Given the description of an element on the screen output the (x, y) to click on. 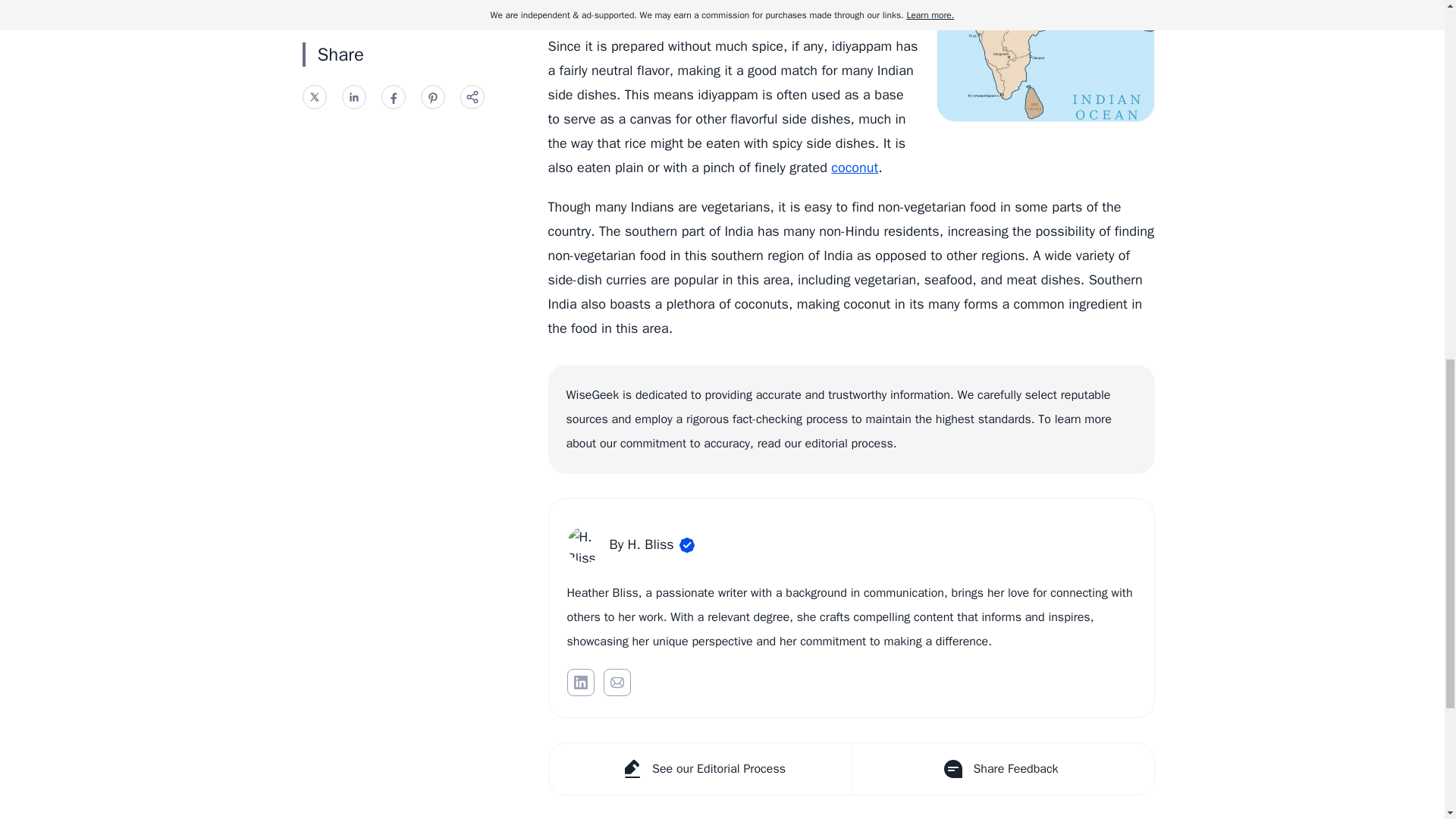
See our Editorial Process (699, 768)
Share Feedback (1001, 768)
coconut (854, 167)
